Given the description of an element on the screen output the (x, y) to click on. 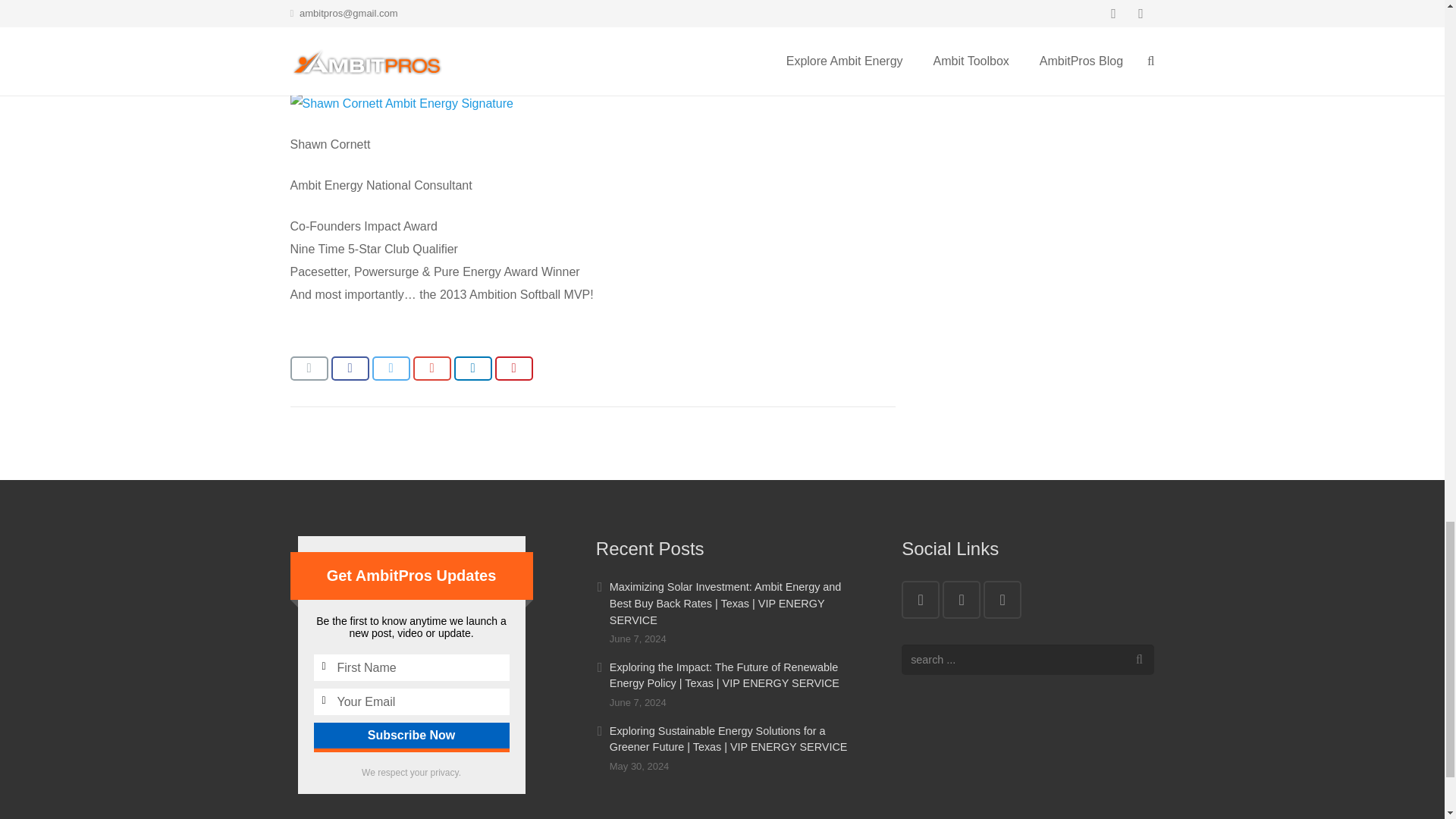
Share this (472, 368)
Shawn Cornett Ambit Energy Signature (400, 103)
Subscribe Now (411, 735)
Share this (349, 368)
Pin this (513, 368)
Tweet this (390, 368)
Share this (430, 368)
Email this (308, 368)
